Given the description of an element on the screen output the (x, y) to click on. 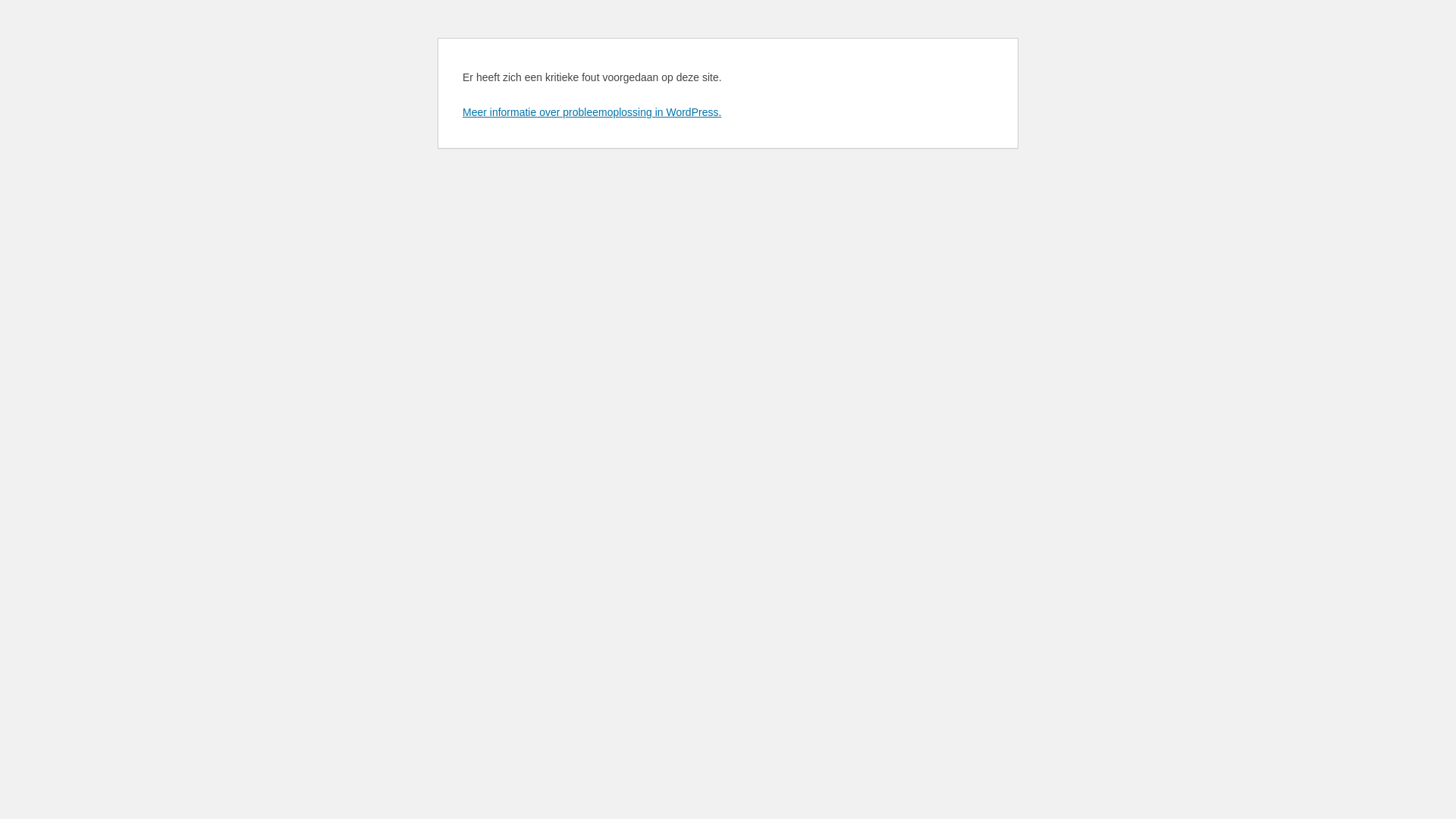
Meer informatie over probleemoplossing in WordPress. Element type: text (591, 112)
